Given the description of an element on the screen output the (x, y) to click on. 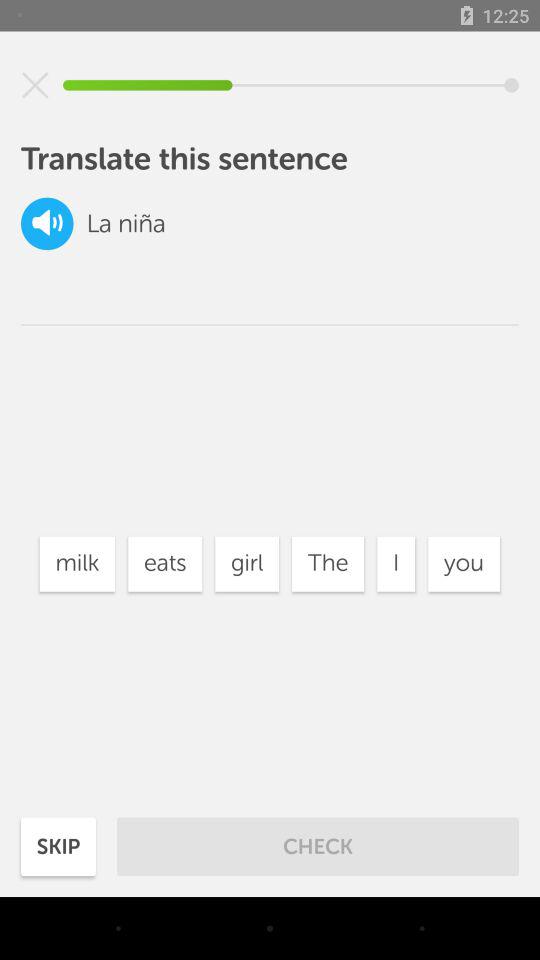
click the milk item (77, 563)
